Given the description of an element on the screen output the (x, y) to click on. 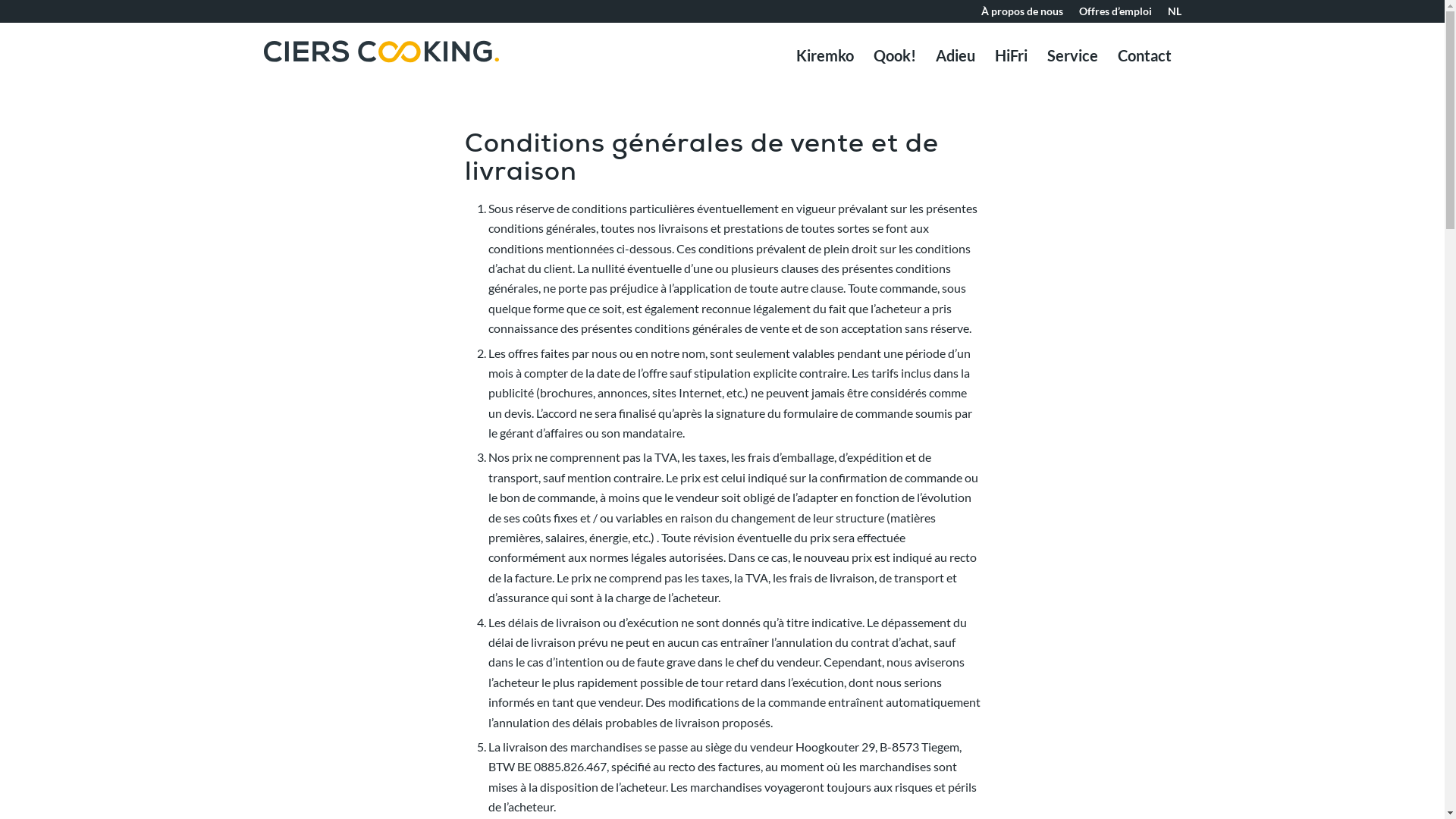
Adieu Element type: text (954, 54)
Qook! Element type: text (893, 54)
ciers-cooking Element type: hover (380, 51)
Kiremko Element type: text (823, 54)
Service Element type: text (1072, 54)
ciers-cooking Element type: hover (380, 73)
Contact Element type: text (1143, 54)
HiFri Element type: text (1010, 54)
